Given the description of an element on the screen output the (x, y) to click on. 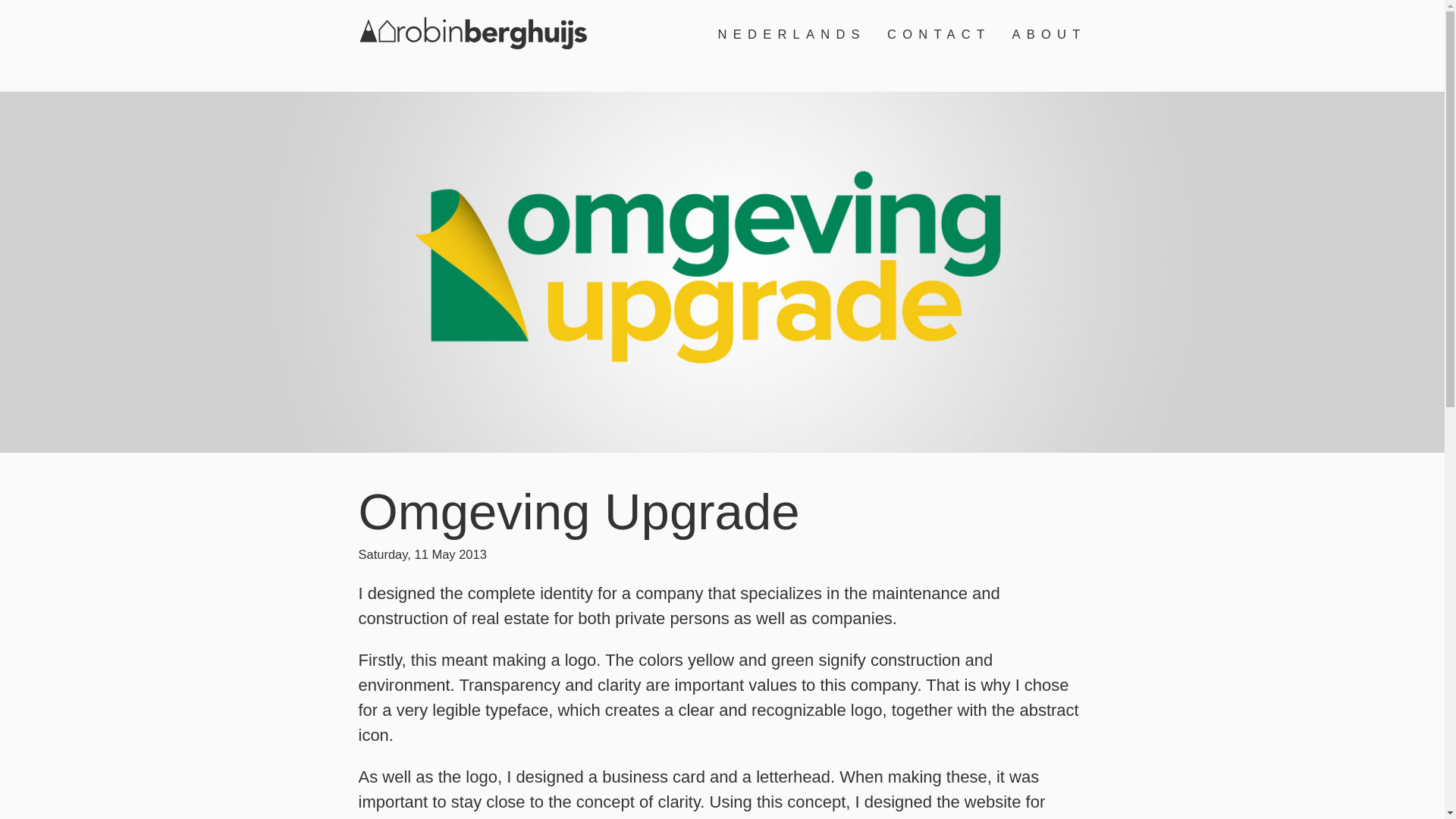
NEDERLANDS (791, 34)
ABOUT (1048, 34)
CONTACT (938, 34)
